Given the description of an element on the screen output the (x, y) to click on. 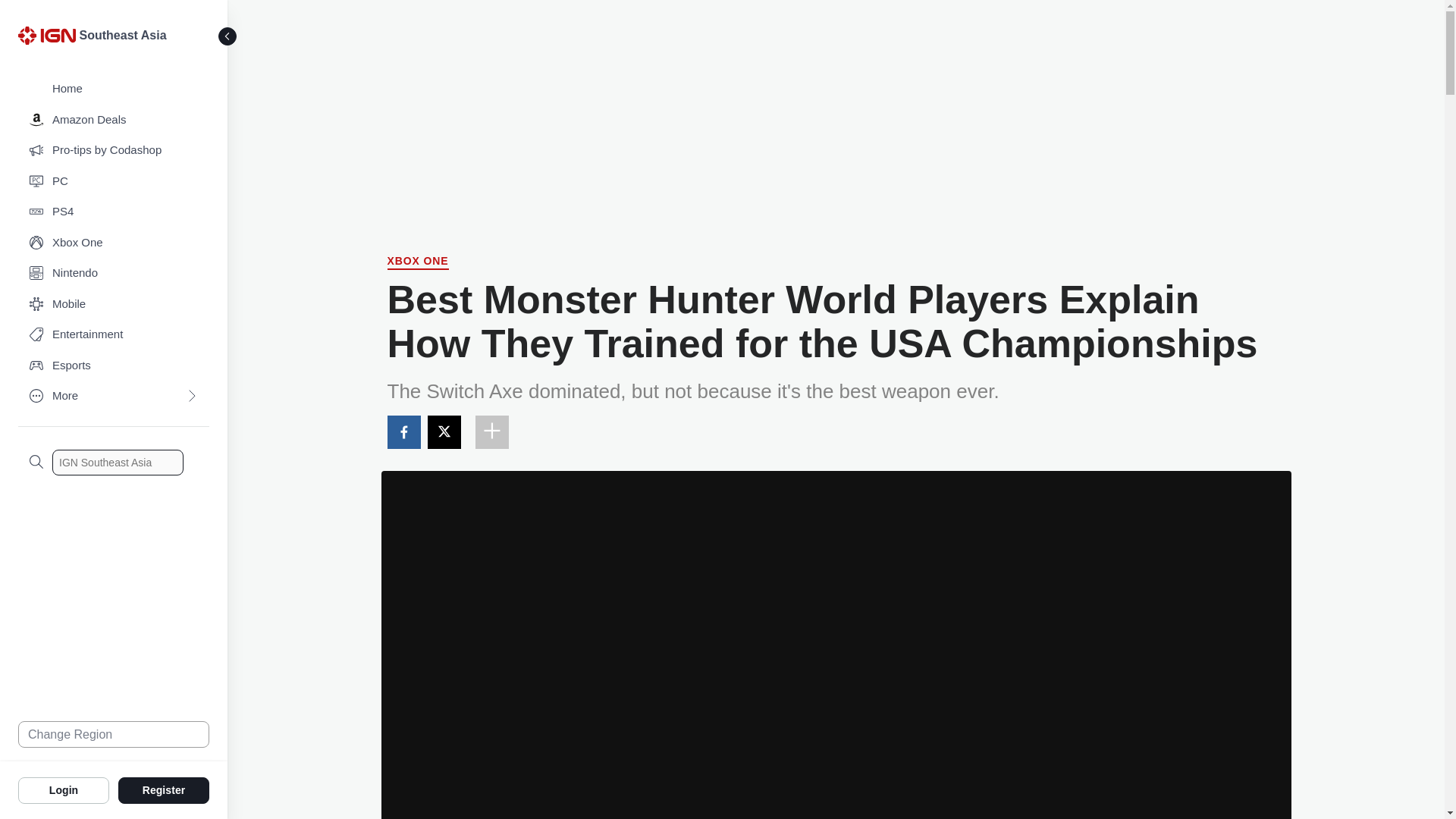
Entertainment (113, 334)
Xbox One (113, 242)
Pro-tips by Codashop (113, 150)
Amazon Deals (113, 119)
Mobile (113, 304)
Register (163, 789)
Login (63, 789)
IGN Logo (46, 34)
Xbox One (417, 262)
PS4 (113, 211)
